Given the description of an element on the screen output the (x, y) to click on. 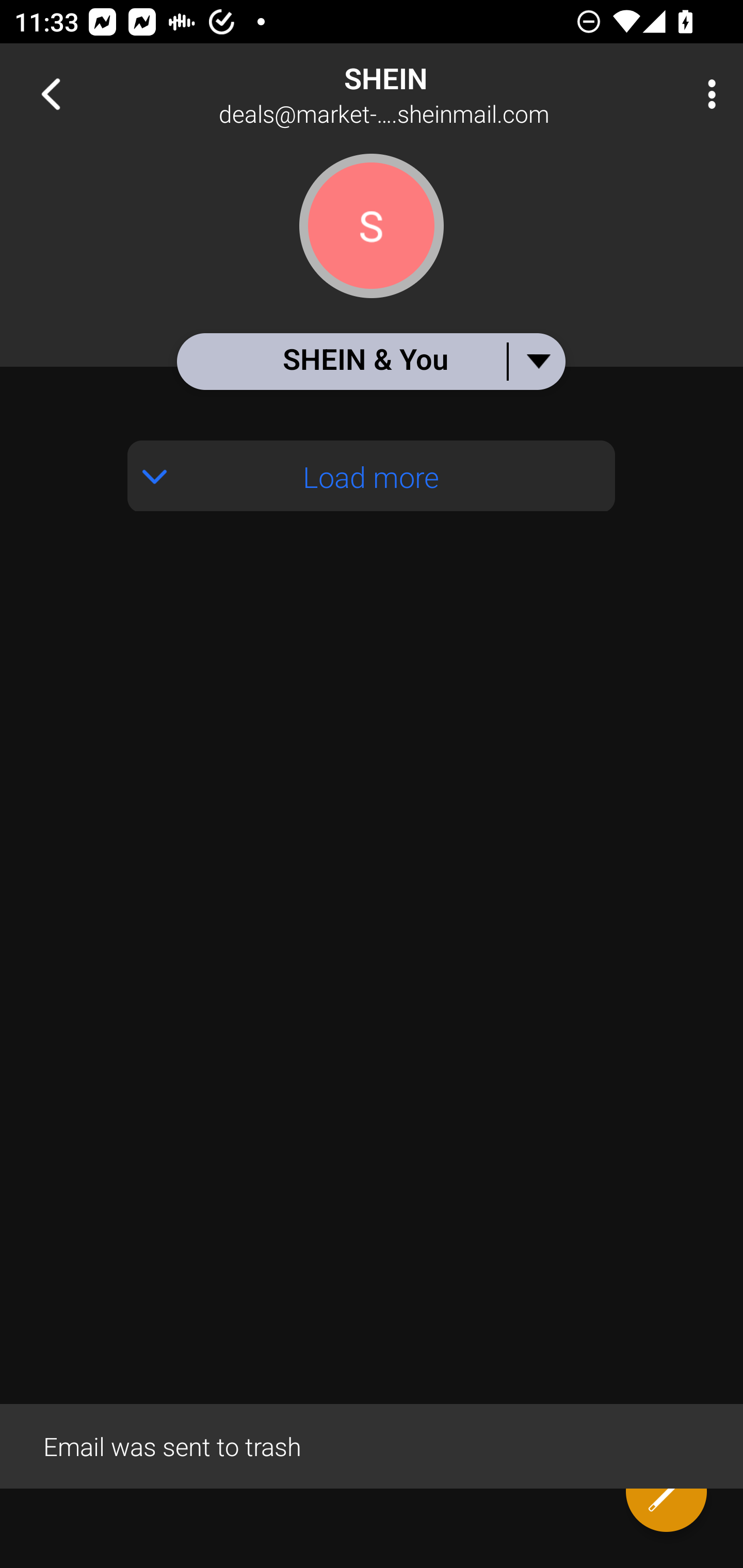
Navigate up (50, 93)
SHEIN deals@market-us.sheinmail.com (436, 93)
More Options (706, 93)
SHEIN & You (370, 361)
Load more (371, 475)
Email was sent to trash (371, 1445)
